Given the description of an element on the screen output the (x, y) to click on. 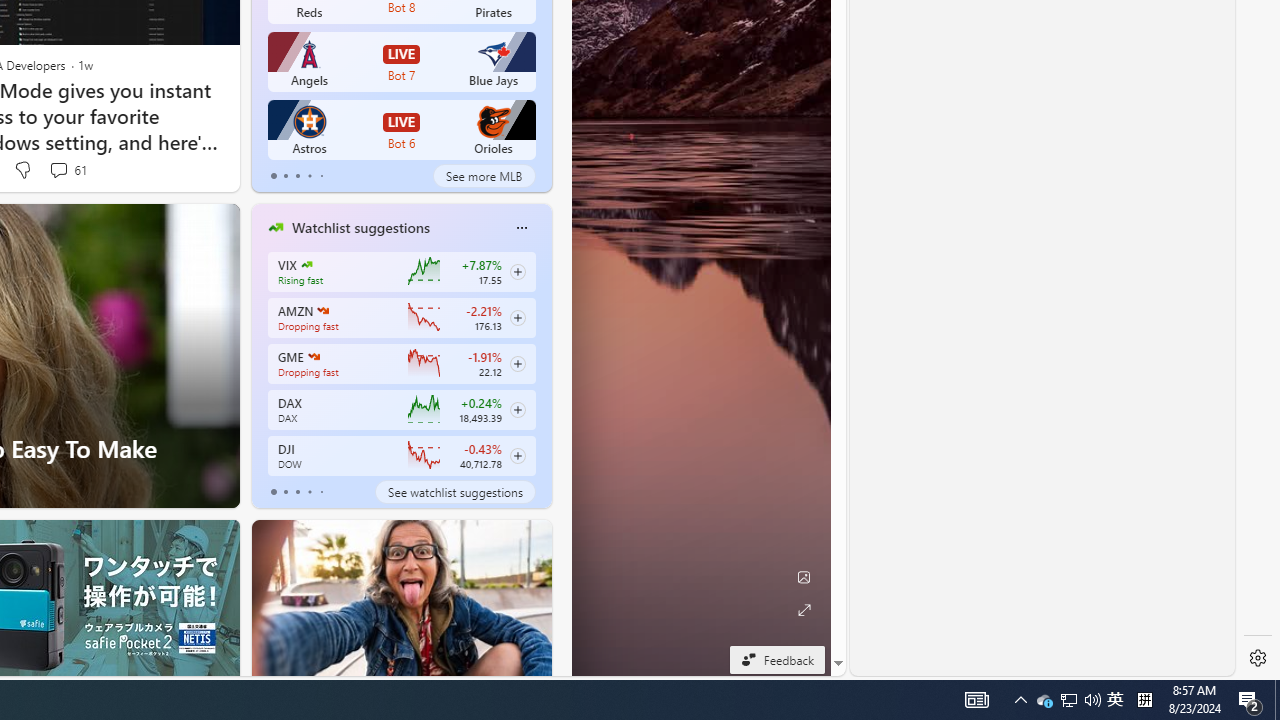
Angels LIVE Bot 7 Blue Jays (401, 61)
tab-1 (285, 491)
tab-4 (320, 491)
tab-0 (273, 491)
Class: icon-img (521, 228)
tab-2 (297, 491)
See watchlist suggestions (454, 491)
AMAZON.COM, INC. (322, 310)
Class: follow-button  m (517, 455)
Edit Background (803, 577)
